Given the description of an element on the screen output the (x, y) to click on. 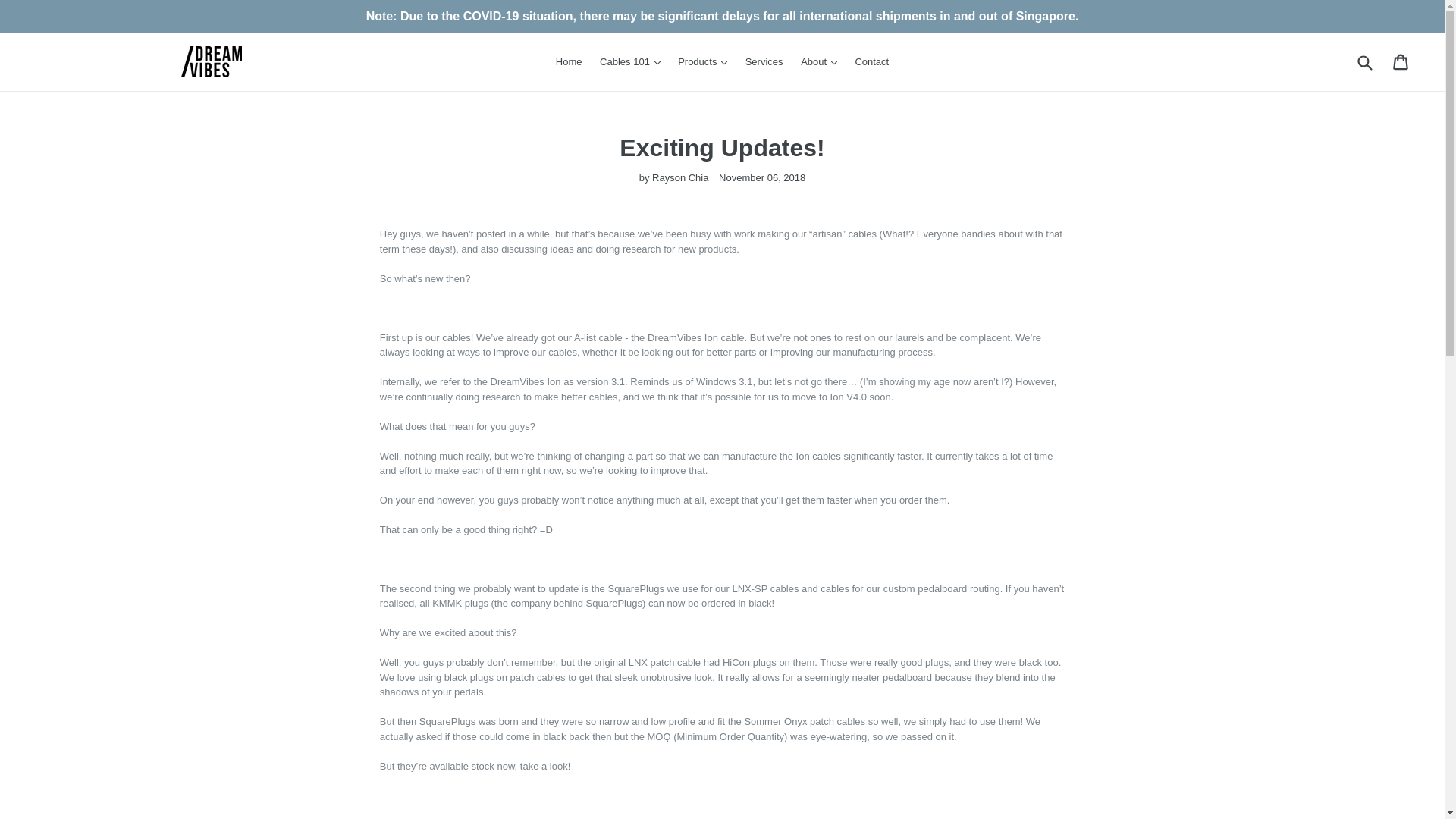
Home (568, 62)
Contact (871, 62)
Services (764, 62)
